Given the description of an element on the screen output the (x, y) to click on. 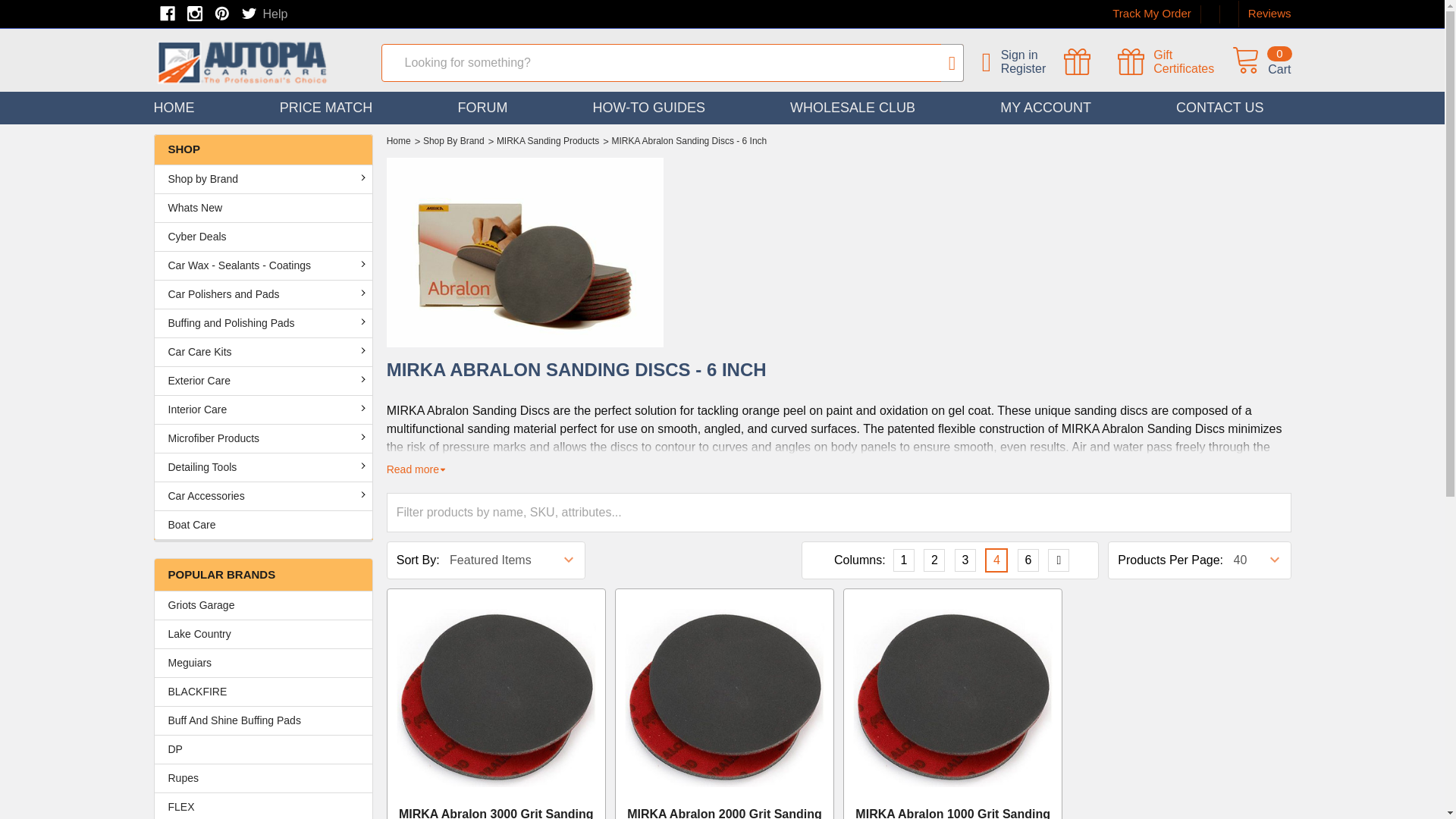
Track My Order (1151, 13)
Sign in (1260, 61)
Griots Garage (1032, 55)
6 (263, 605)
3 (1027, 560)
DP (1174, 62)
Help (263, 749)
Register (274, 13)
Autopia-CarCare.com (1174, 62)
Buff And Shine Buffing Pads (1032, 69)
